Given the description of an element on the screen output the (x, y) to click on. 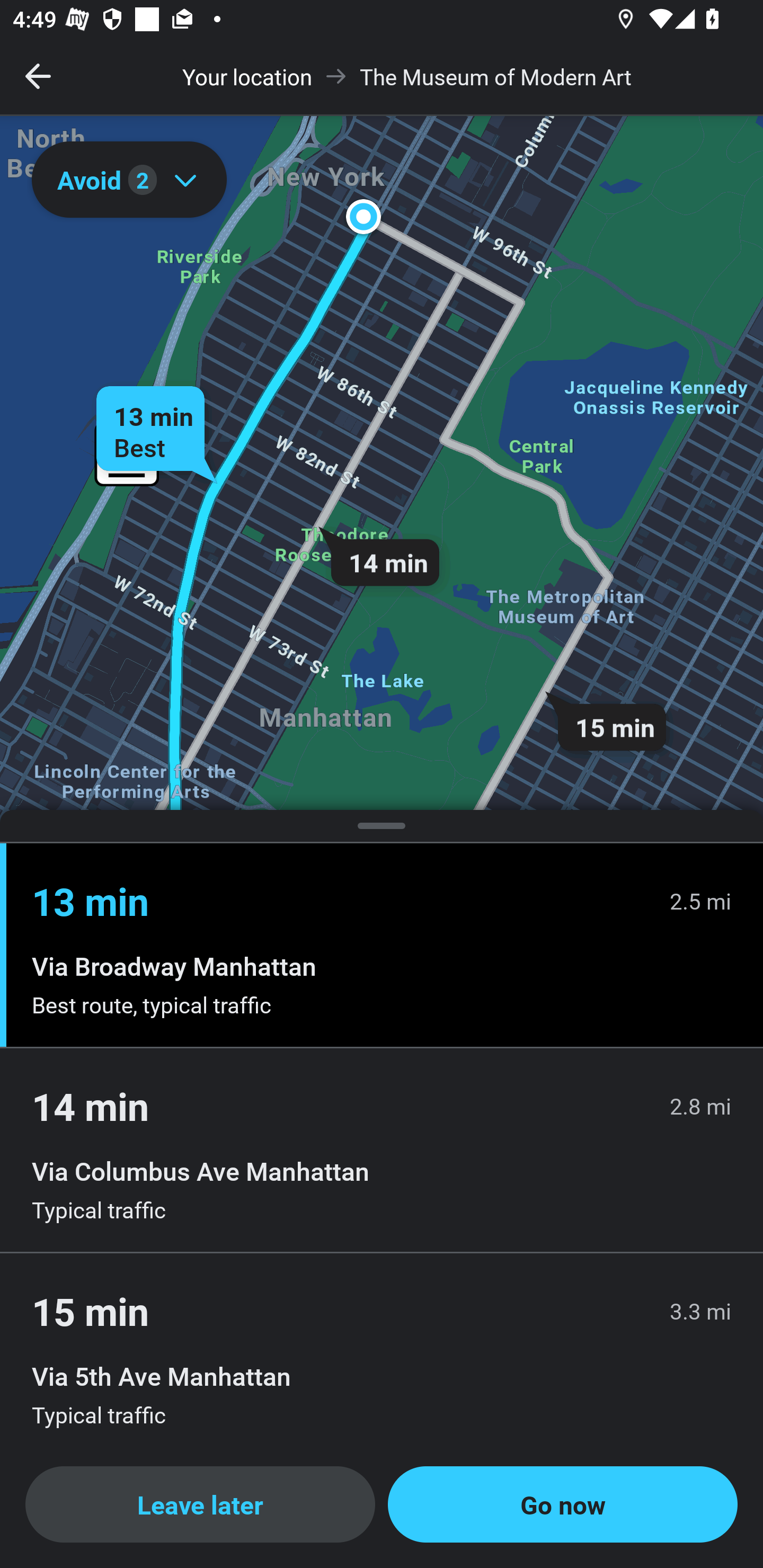
Leave later (200, 1504)
Go now (562, 1504)
